Given the description of an element on the screen output the (x, y) to click on. 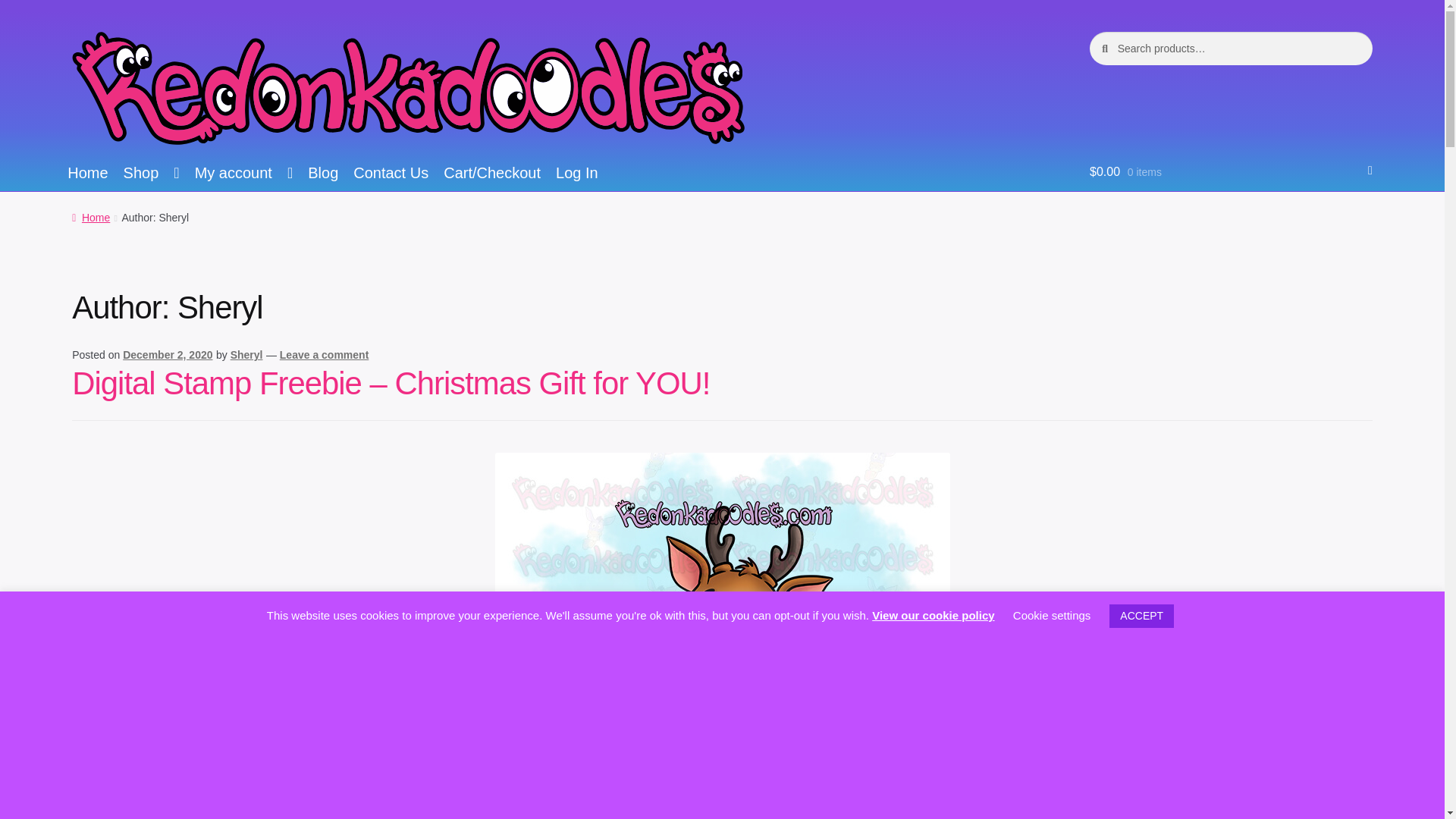
Shop (151, 174)
Blog (322, 174)
Contact Us (390, 174)
Home (87, 174)
View your shopping cart (1231, 167)
Log In (576, 174)
My account (244, 174)
